Given the description of an element on the screen output the (x, y) to click on. 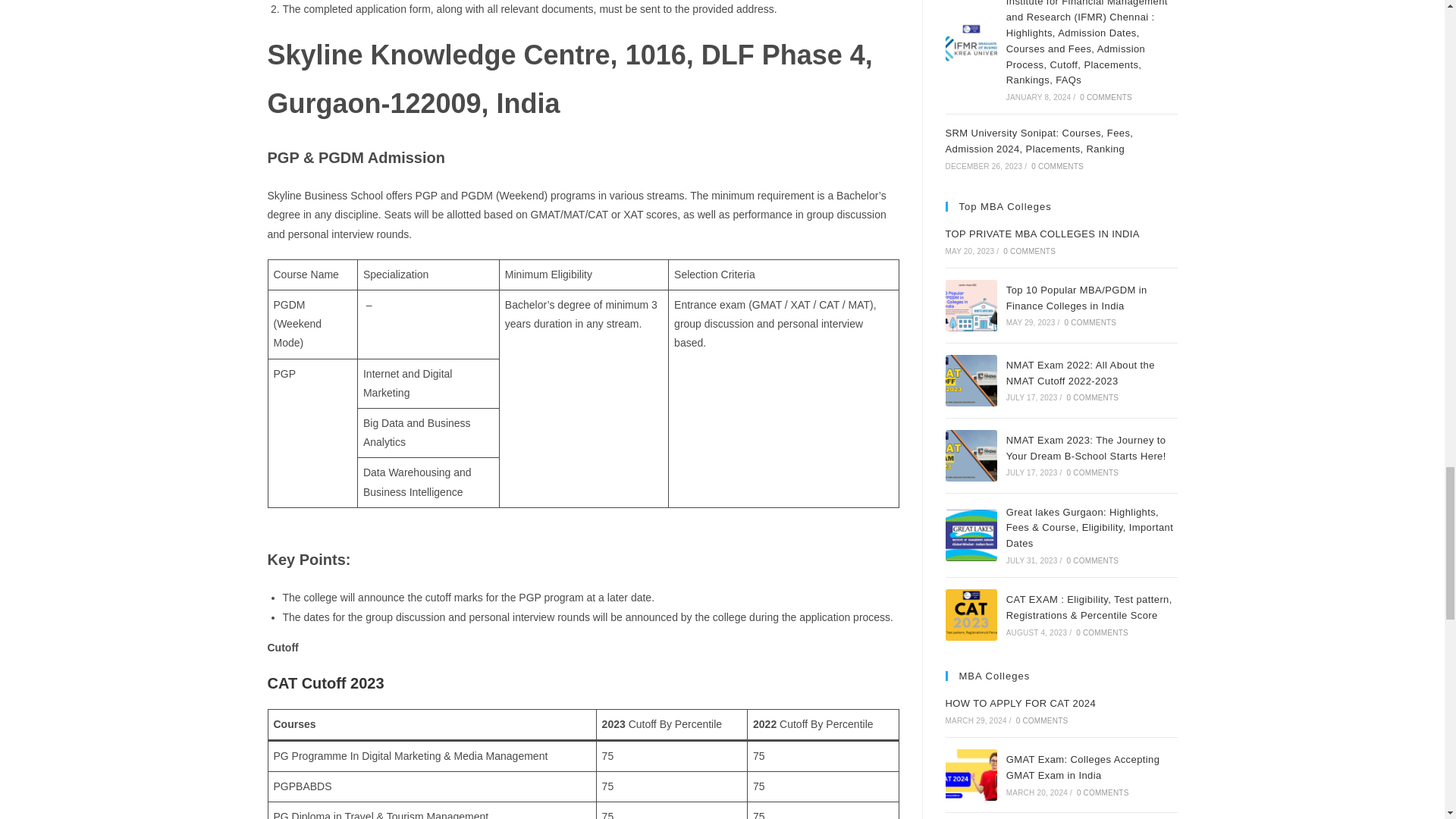
NMAT Exam 2022: All About the NMAT Cutoff 2022-2023 (969, 380)
